Given the description of an element on the screen output the (x, y) to click on. 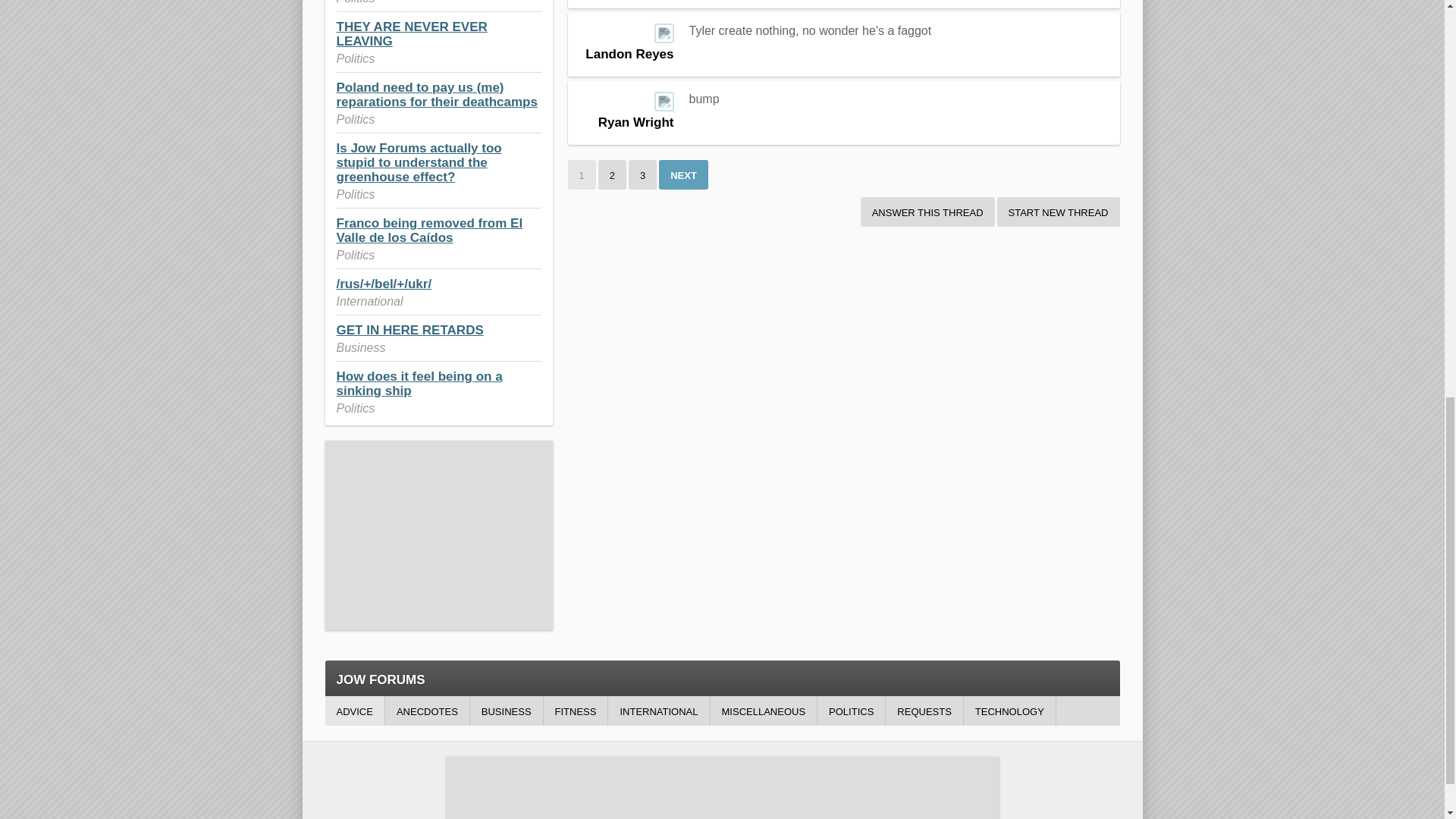
THEY ARE NEVER EVER LEAVING (411, 33)
3 (642, 174)
ANSWER THIS THREAD (927, 211)
GET IN HERE RETARDS (409, 329)
NEXT (683, 174)
2 (612, 174)
THEY ARE NEVER EVER LEAVING (411, 33)
START NEW THREAD (1058, 211)
